Given the description of an element on the screen output the (x, y) to click on. 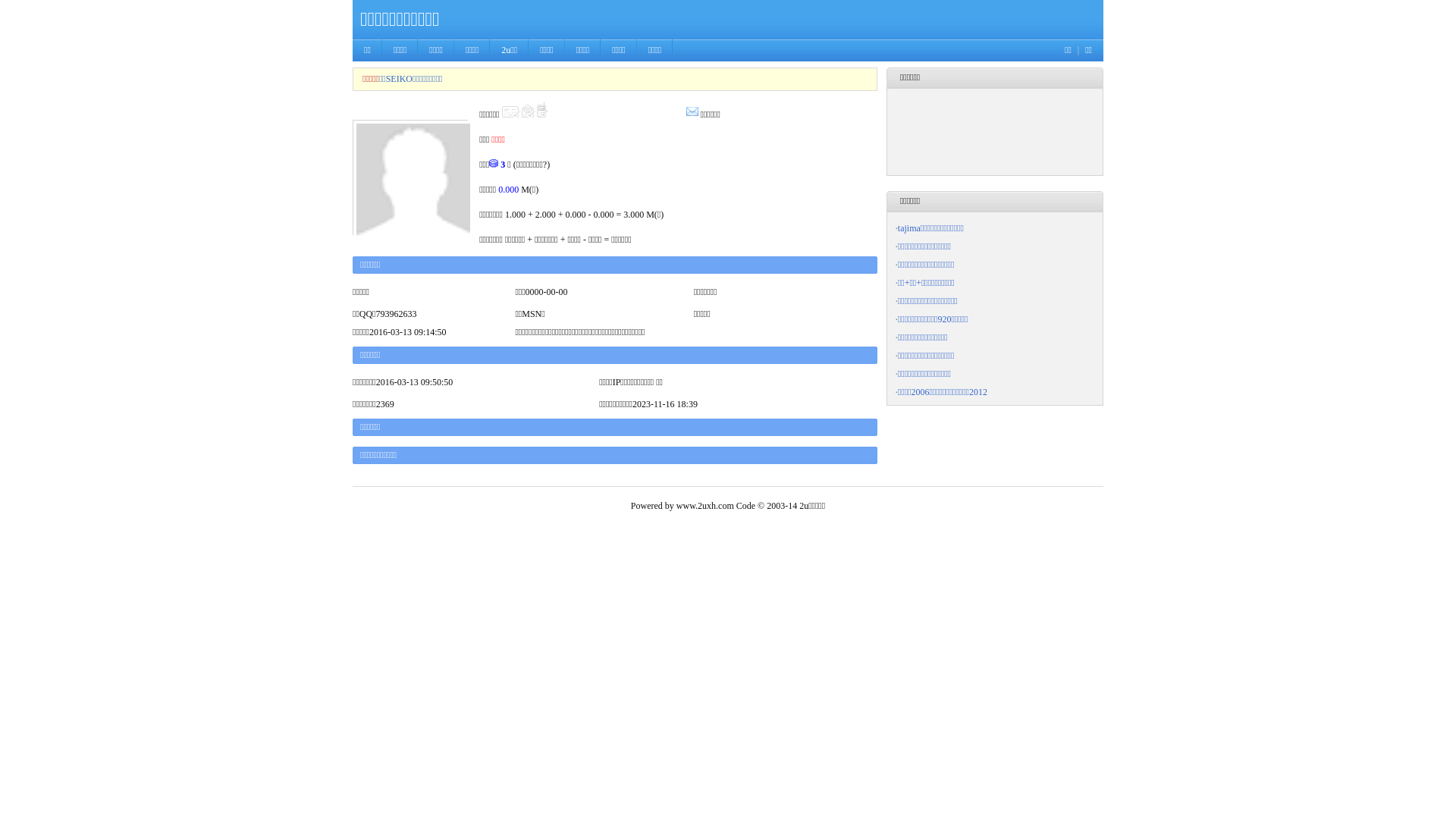
www.2uxh.com Element type: text (705, 505)
